Given the description of an element on the screen output the (x, y) to click on. 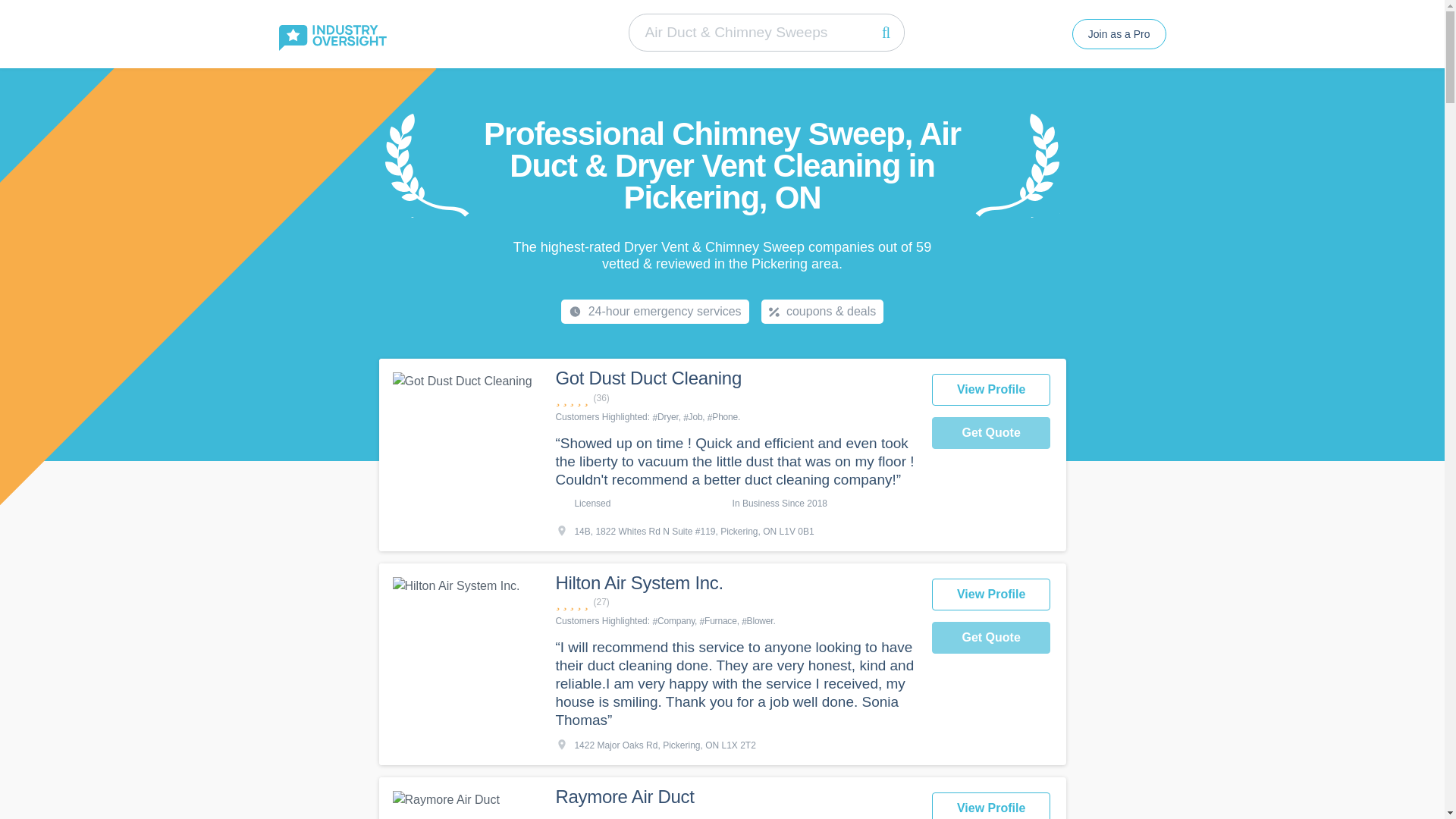
Join as a Pro (1118, 33)
5.0 (734, 602)
Search (884, 32)
Get Quote (991, 637)
Search (884, 32)
Search (884, 32)
24-hour emergency services (654, 311)
Get Quote (991, 432)
5.0 (734, 398)
5.0 (734, 814)
